Given the description of an element on the screen output the (x, y) to click on. 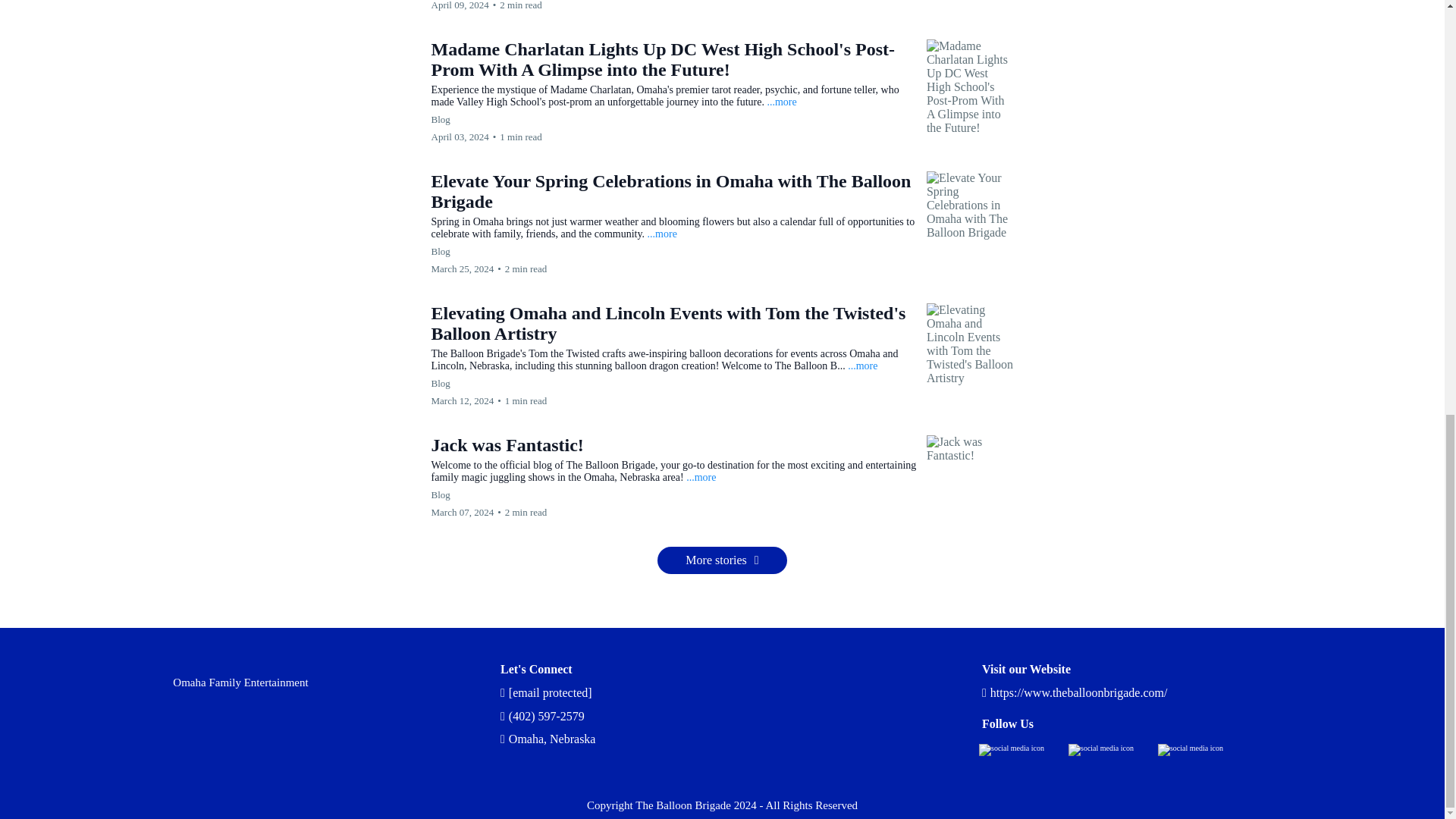
...more (662, 233)
...more (862, 365)
Jack was Fantastic! (506, 444)
...more (700, 477)
...more (781, 101)
More stories (722, 560)
